Given the description of an element on the screen output the (x, y) to click on. 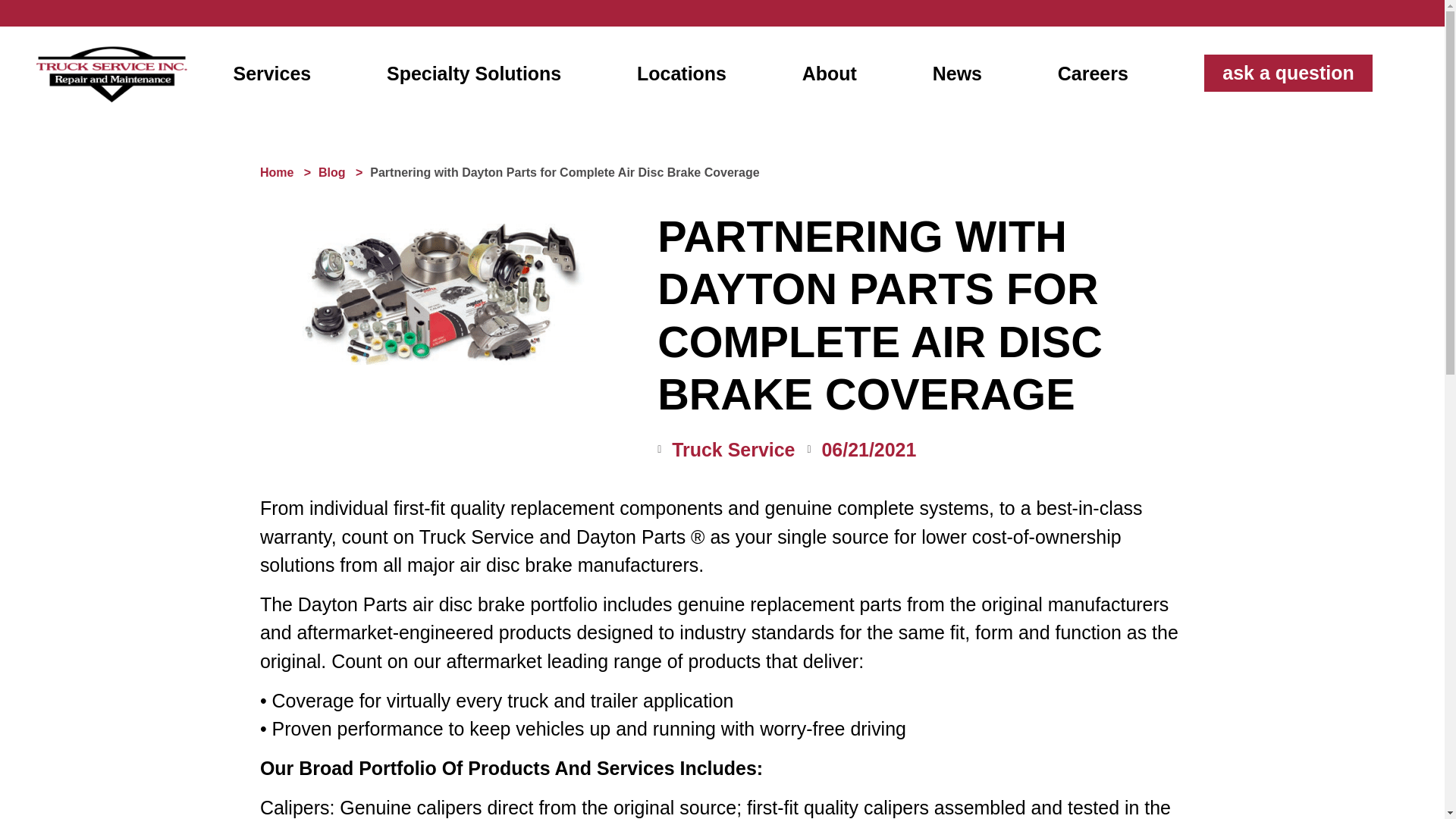
Careers (1093, 73)
News (957, 73)
About (829, 73)
Services (272, 73)
Locations (681, 73)
Specialty Solutions (473, 73)
